Given the description of an element on the screen output the (x, y) to click on. 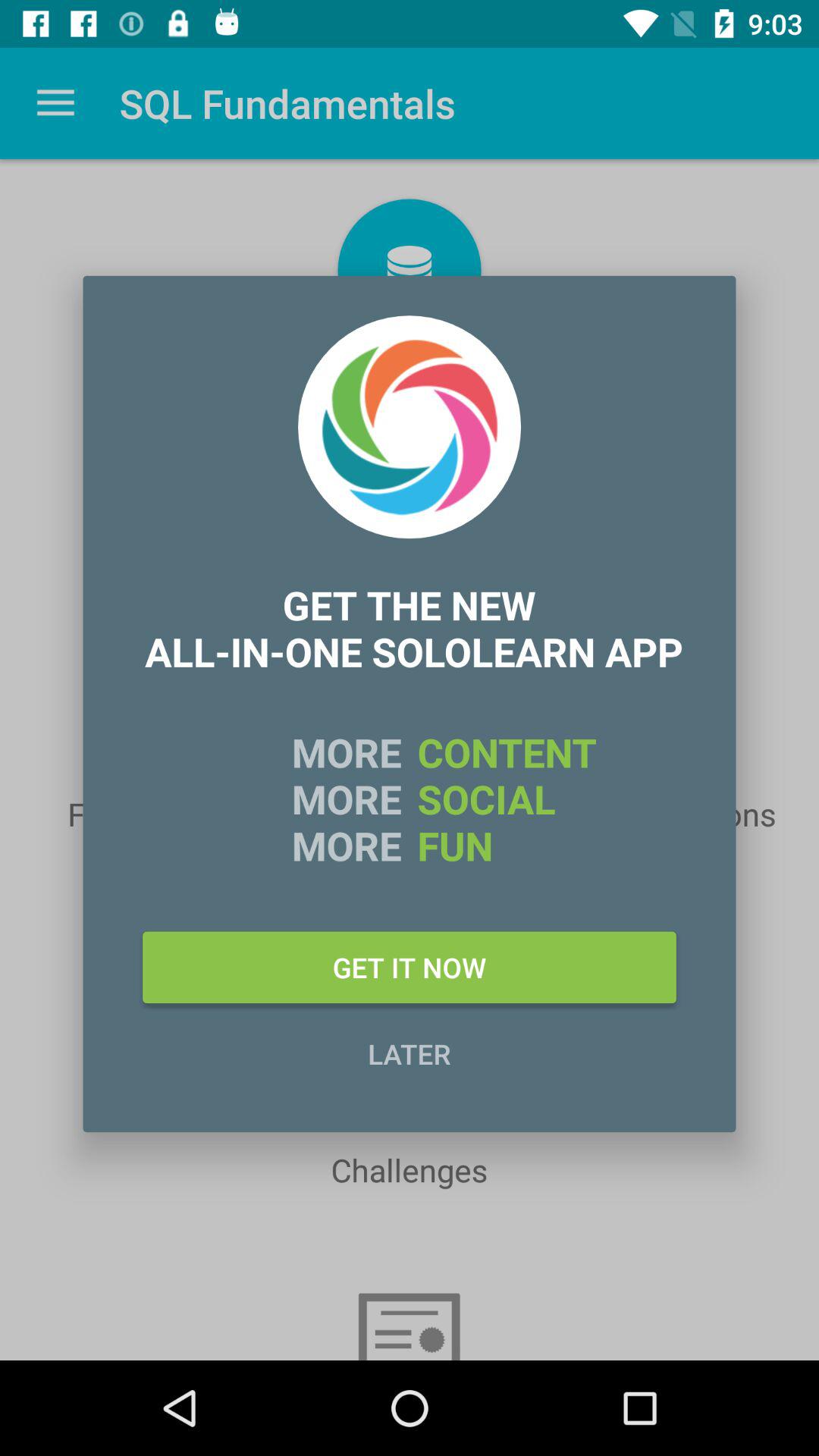
click the get it now (409, 967)
